Given the description of an element on the screen output the (x, y) to click on. 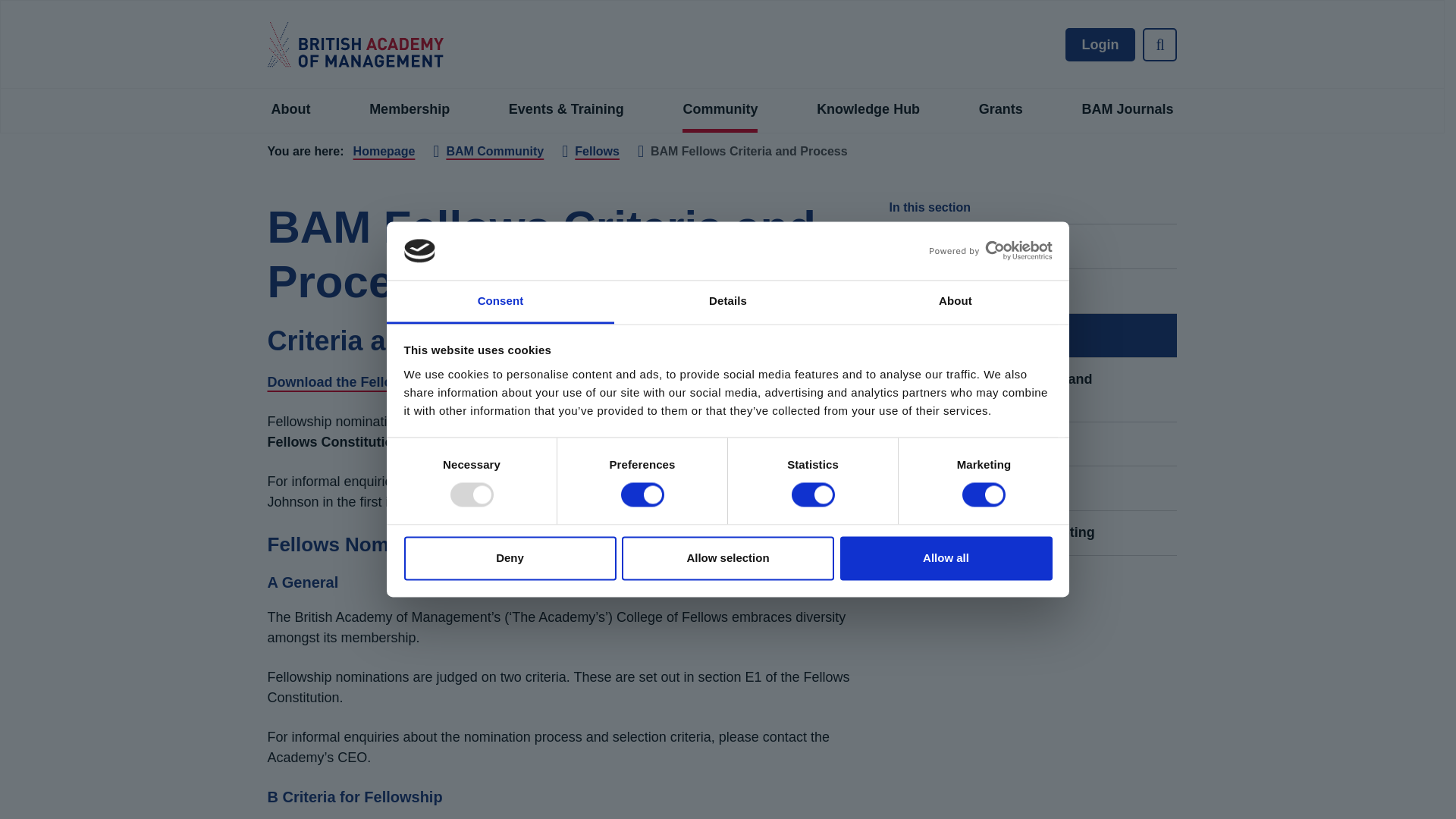
Allow all (946, 557)
Details (727, 301)
Deny (509, 557)
Login (463, 457)
Login (527, 342)
Reset your password (527, 342)
Allow selection (727, 557)
Login (463, 457)
About (954, 301)
Consent (500, 301)
Skip to content (312, 104)
